Given the description of an element on the screen output the (x, y) to click on. 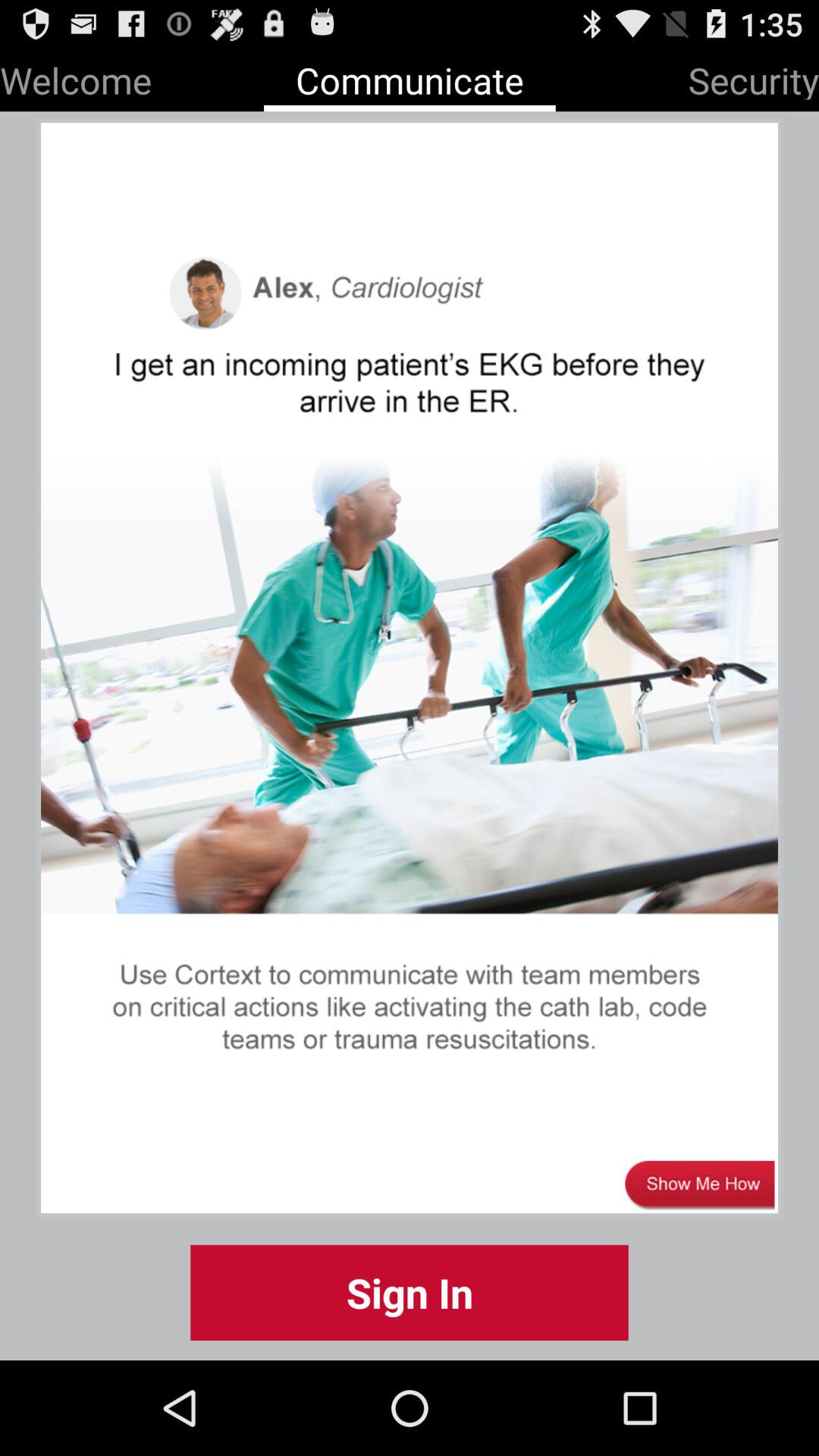
turn off the sign in button (409, 1292)
